Given the description of an element on the screen output the (x, y) to click on. 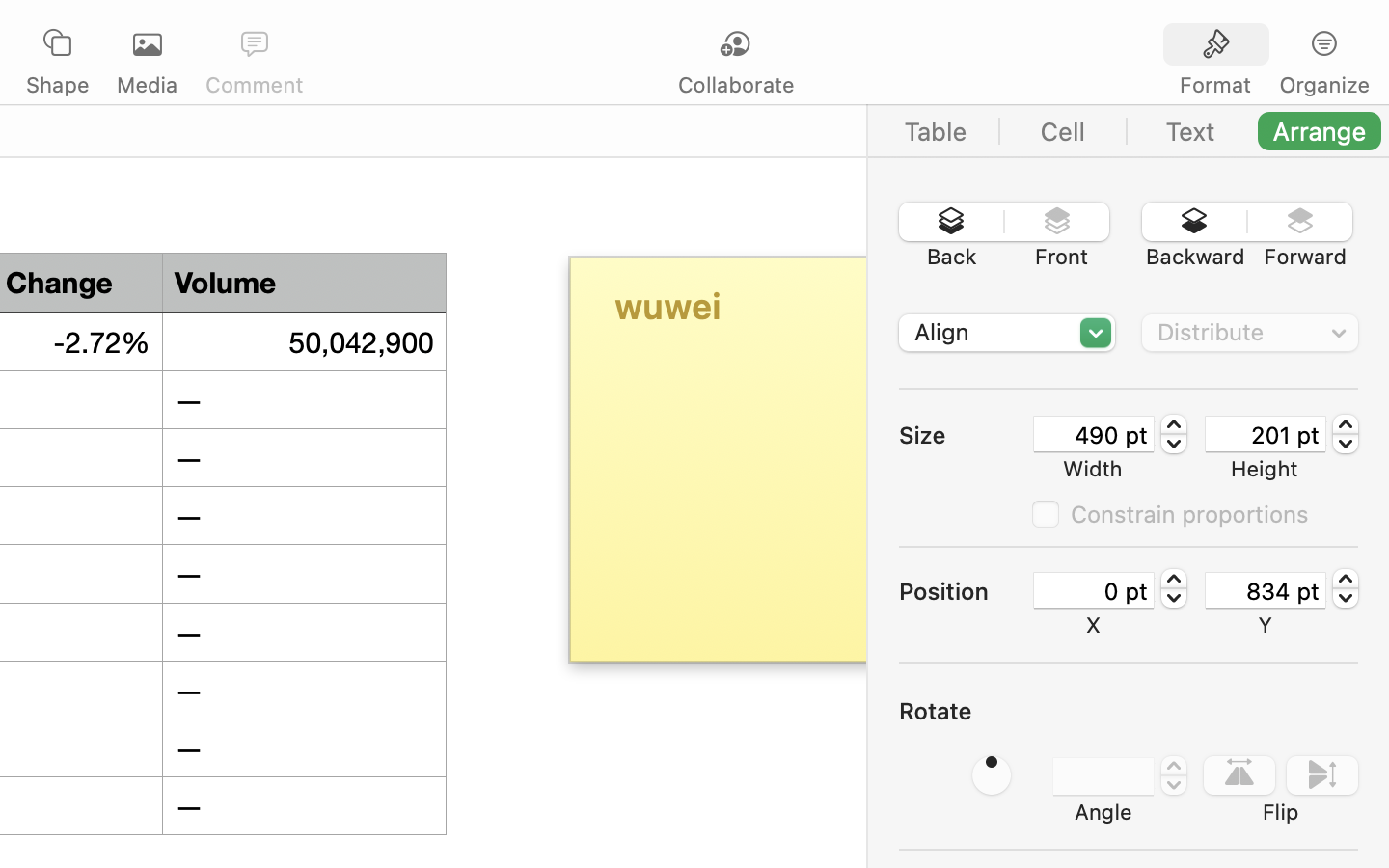
Y Element type: AXStaticText (1265, 624)
<AXUIElement 0x17ff39da0> {pid=1420} Element type: AXRadioGroup (1128, 131)
